Given the description of an element on the screen output the (x, y) to click on. 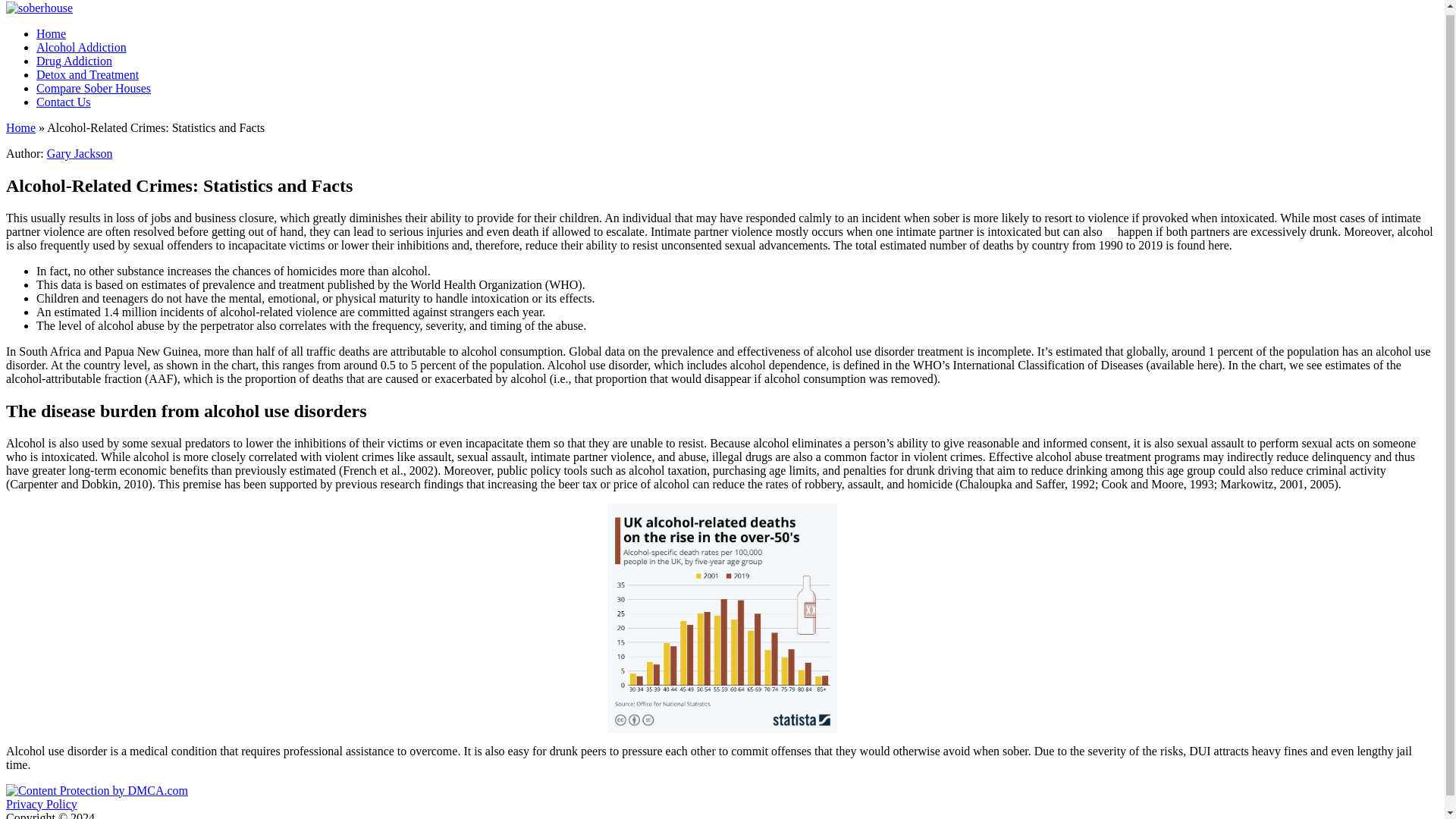
Content Protection by DMCA.com (96, 789)
Detox and Treatment (87, 74)
Alcohol Addiction (81, 47)
Home (50, 33)
Compare Sober Houses (93, 88)
Drug Addiction (74, 60)
Privacy Policy (41, 803)
Gary Jackson (79, 153)
Home (19, 127)
Contact Us (63, 101)
